Given the description of an element on the screen output the (x, y) to click on. 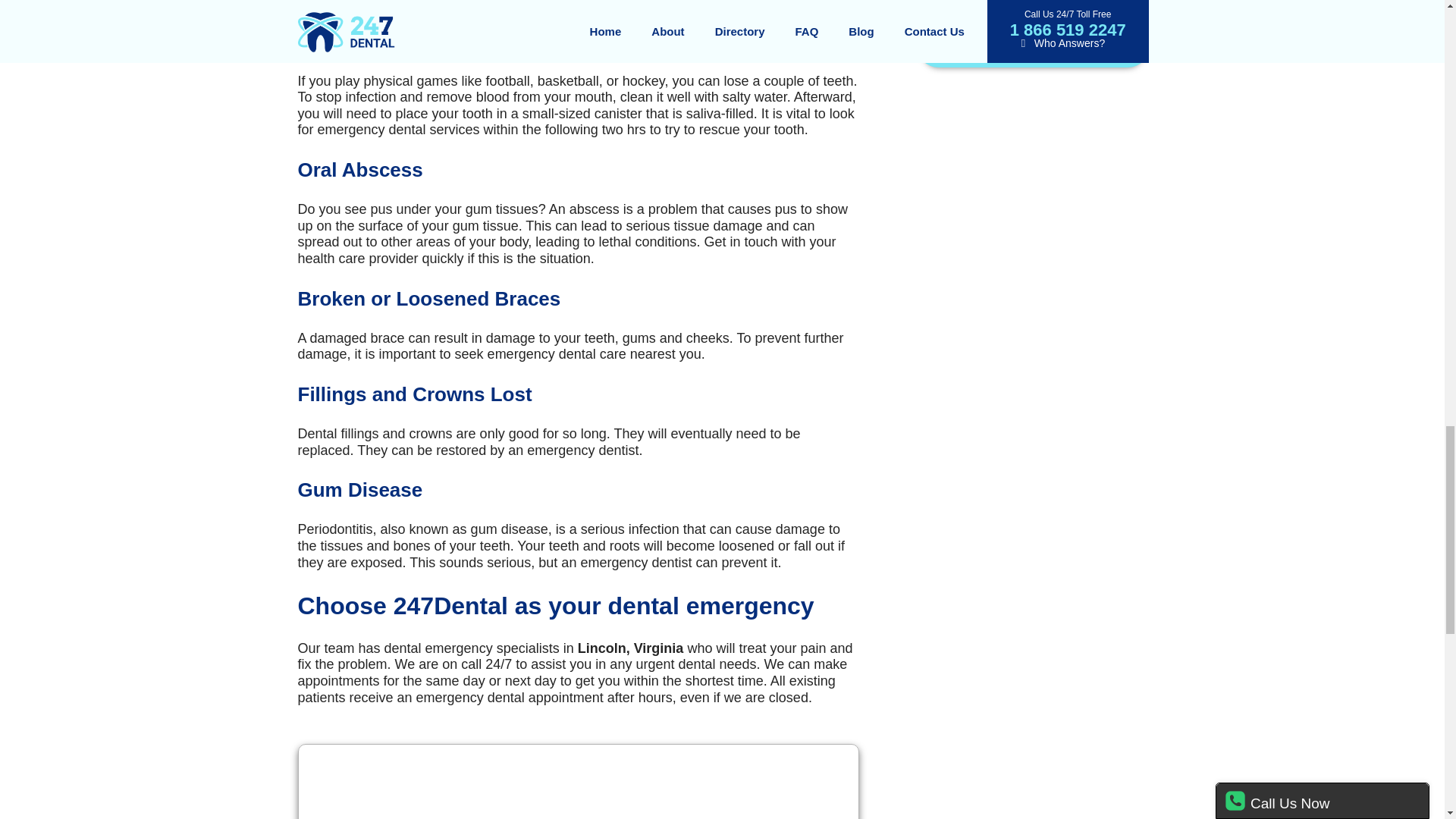
Lincoln, Virginia (578, 781)
Who Answers? (1032, 39)
1 866 519 2247 (1033, 13)
